Given the description of an element on the screen output the (x, y) to click on. 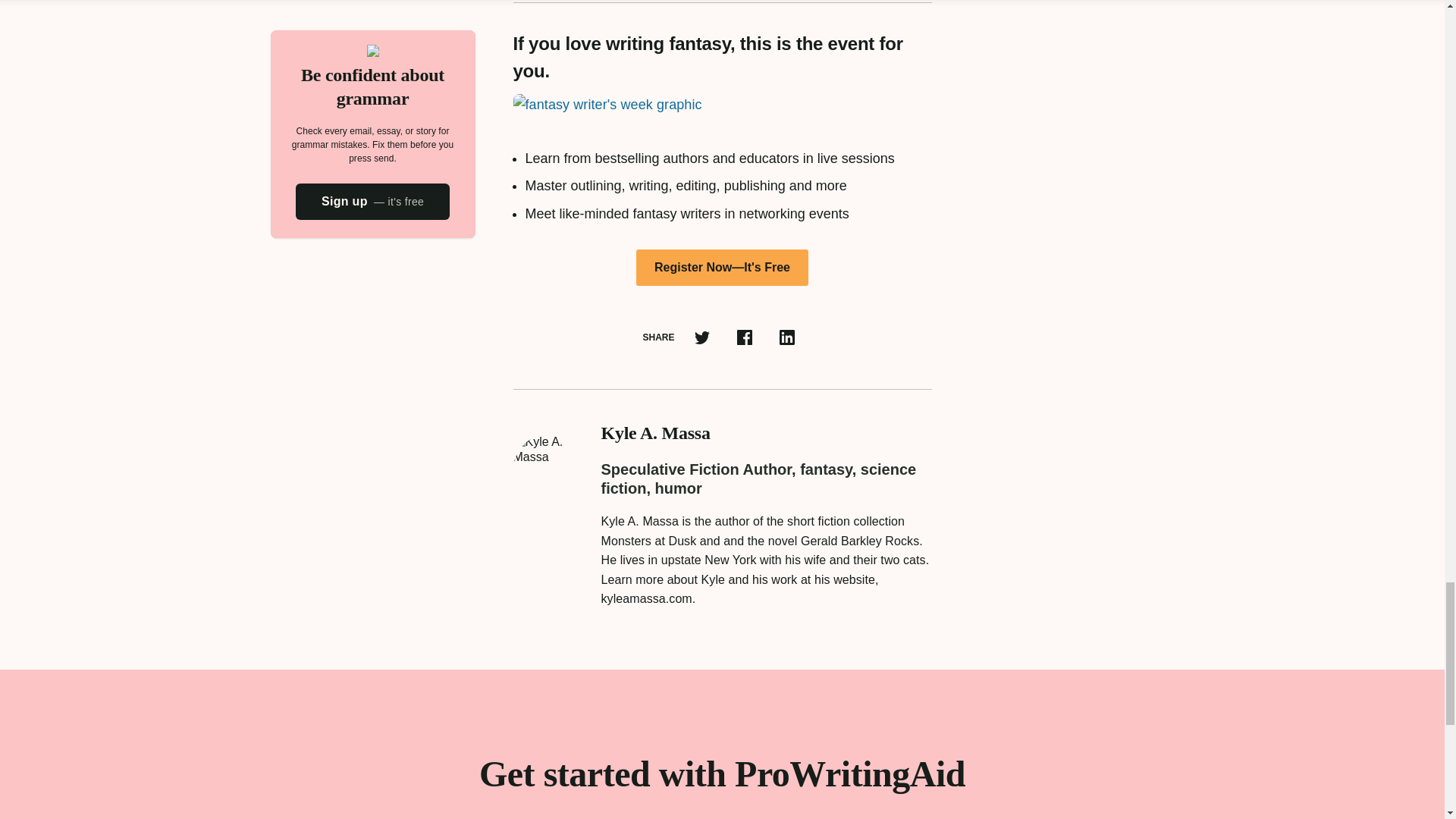
Register for the session now! (722, 267)
